Given the description of an element on the screen output the (x, y) to click on. 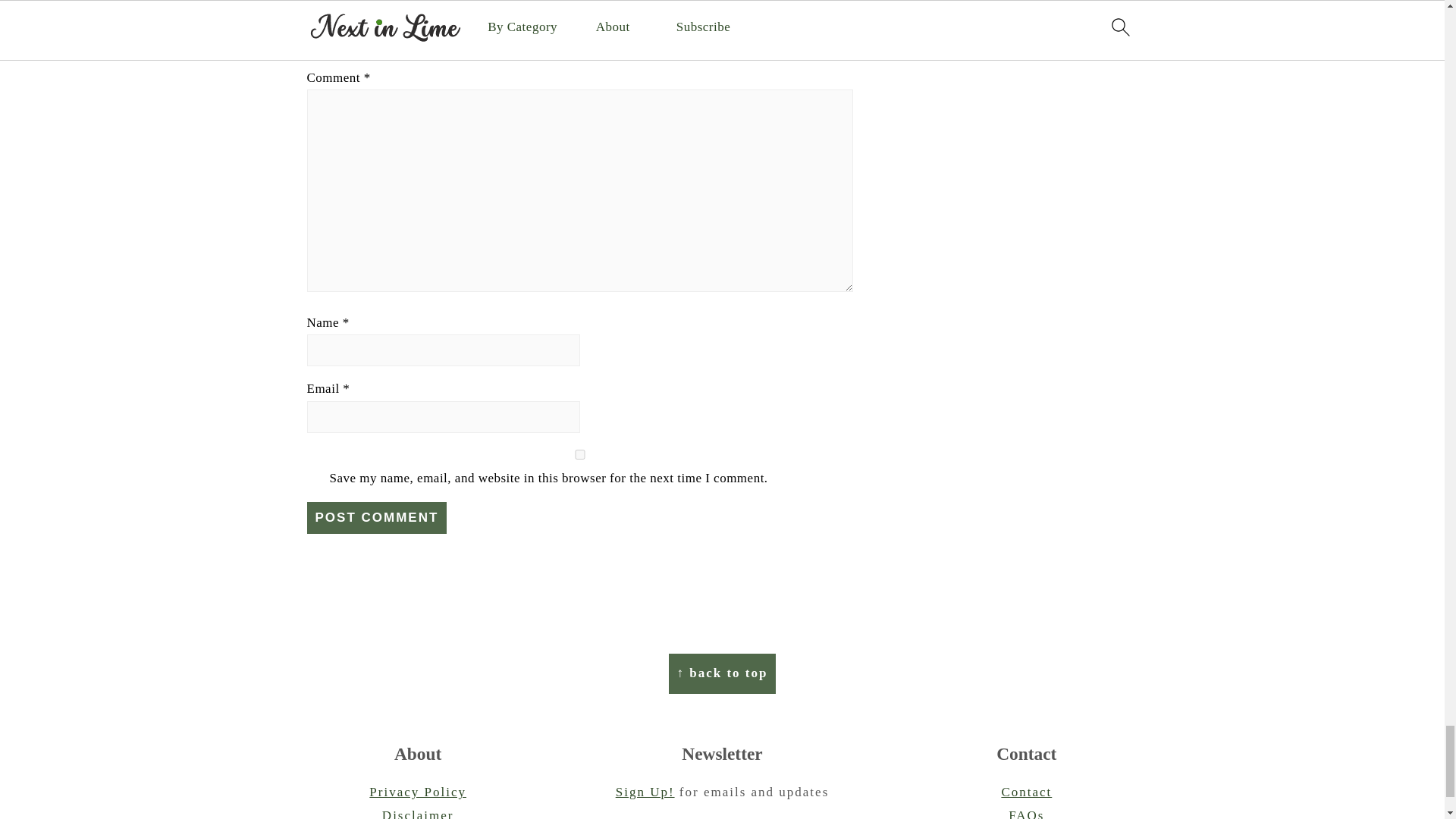
yes (578, 454)
Post Comment (375, 517)
